Given the description of an element on the screen output the (x, y) to click on. 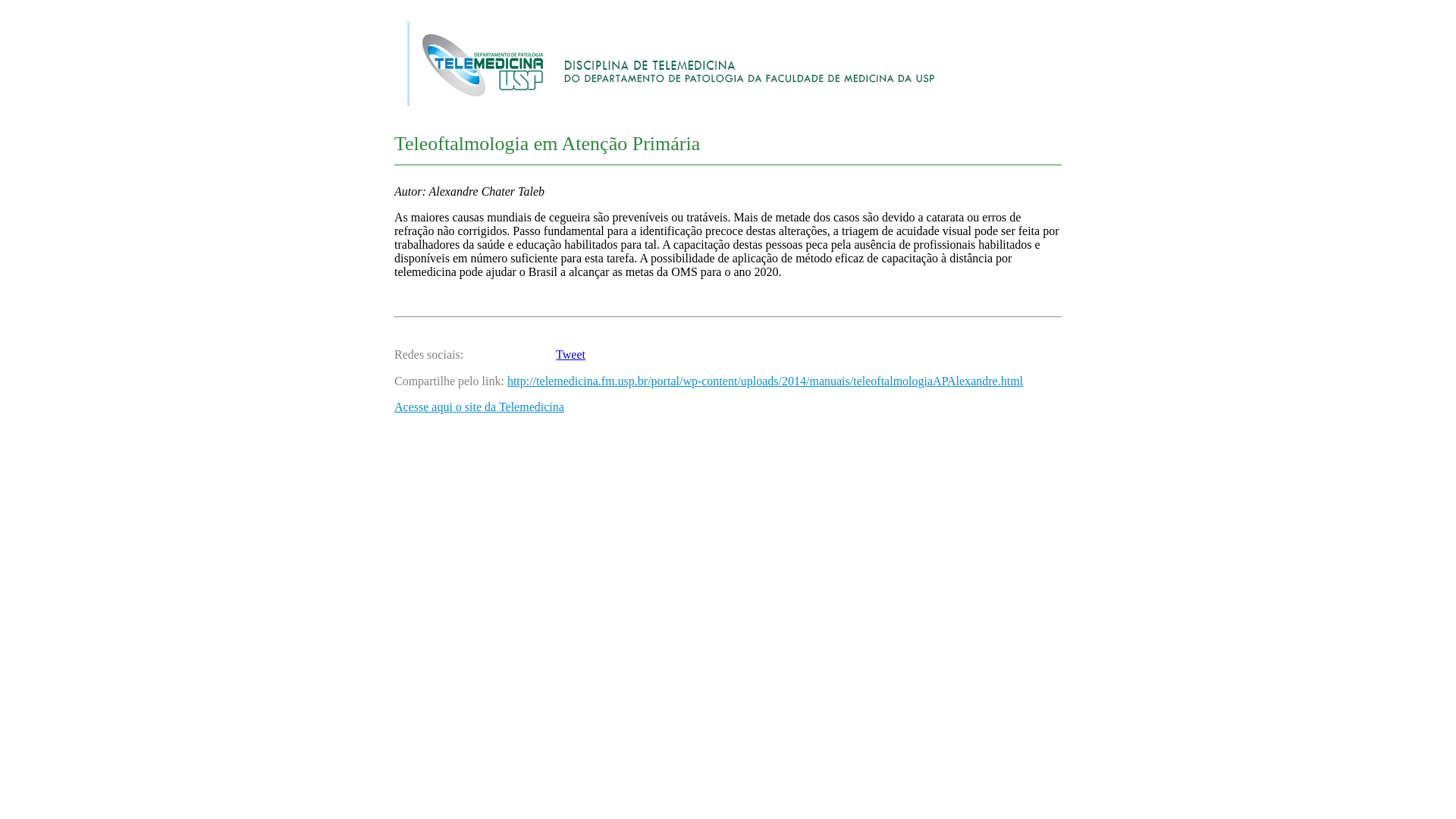
Acesse aqui o site da Telemedicina Element type: text (479, 406)
Tweet Element type: text (570, 354)
